Given the description of an element on the screen output the (x, y) to click on. 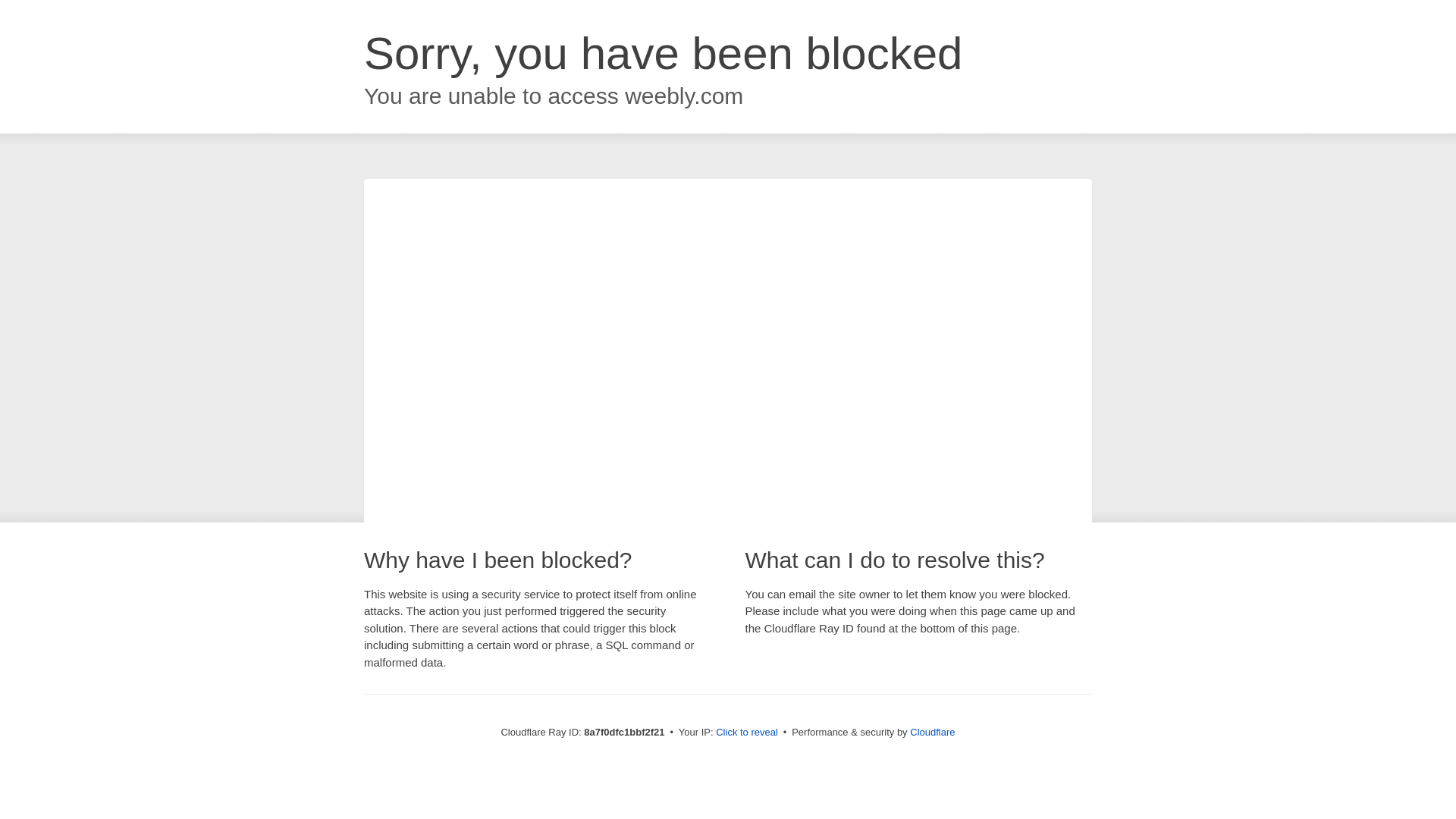
Cloudflare (932, 731)
Click to reveal (746, 732)
